Given the description of an element on the screen output the (x, y) to click on. 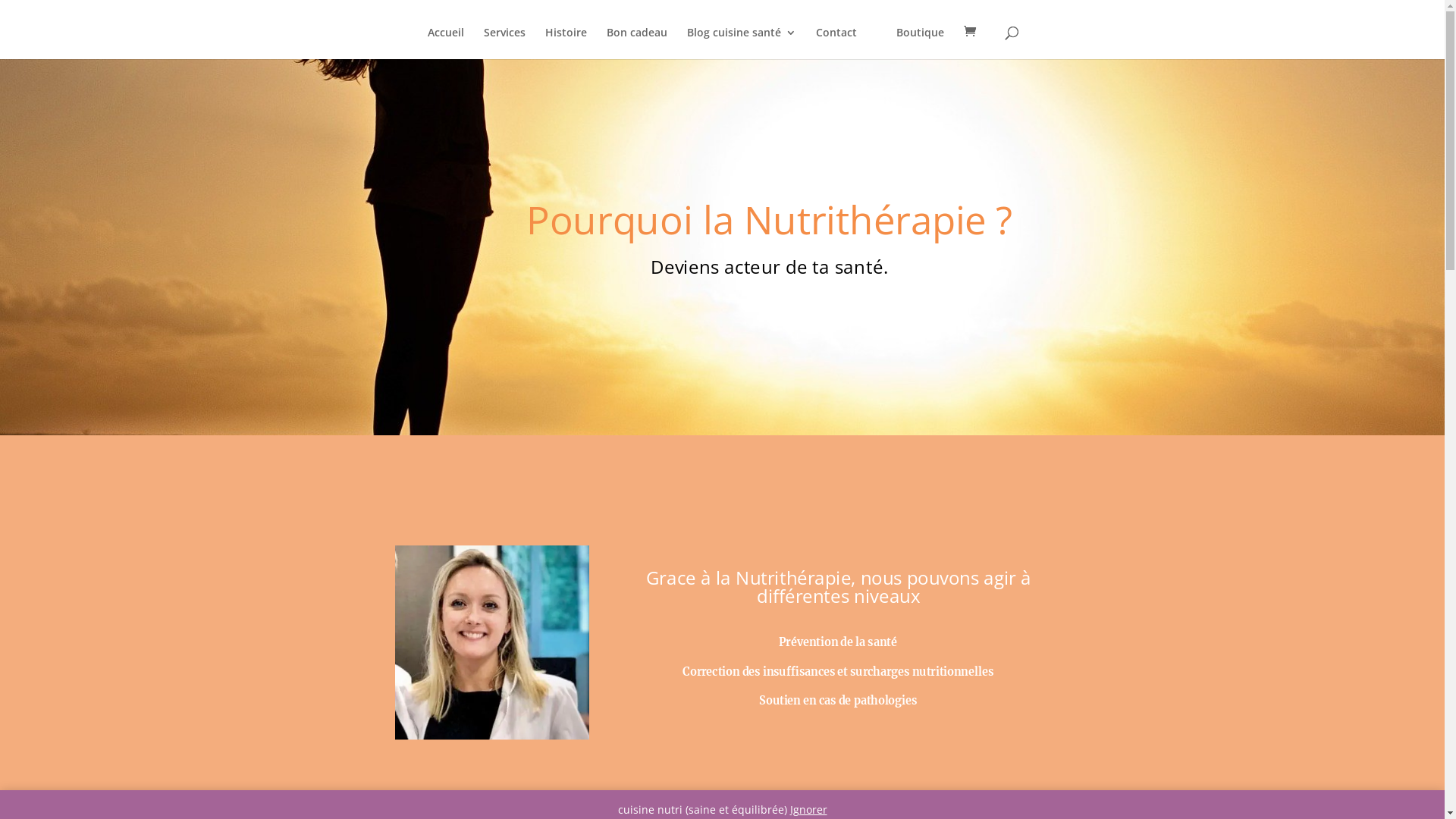
Services Element type: text (504, 43)
Accueil Element type: text (445, 43)
Boutique Element type: text (920, 43)
Bon cadeau Element type: text (636, 43)
Histoire Element type: text (565, 43)
62453033_1542949222506836_1256194916657135616_n Element type: hover (515, 666)
Contact Element type: text (835, 43)
Ignorer Element type: text (808, 809)
